Given the description of an element on the screen output the (x, y) to click on. 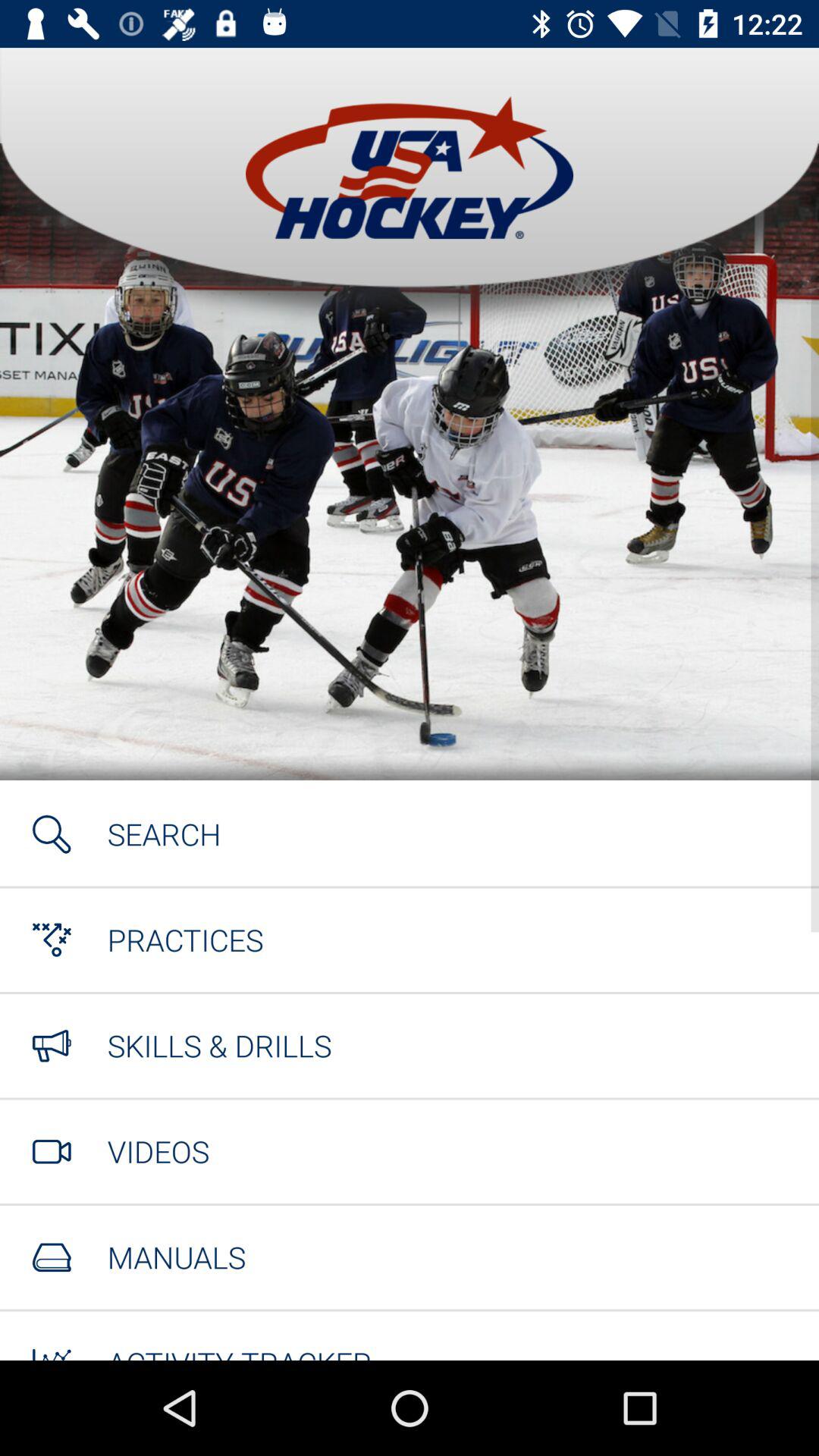
launch the icon below practices item (219, 1045)
